Given the description of an element on the screen output the (x, y) to click on. 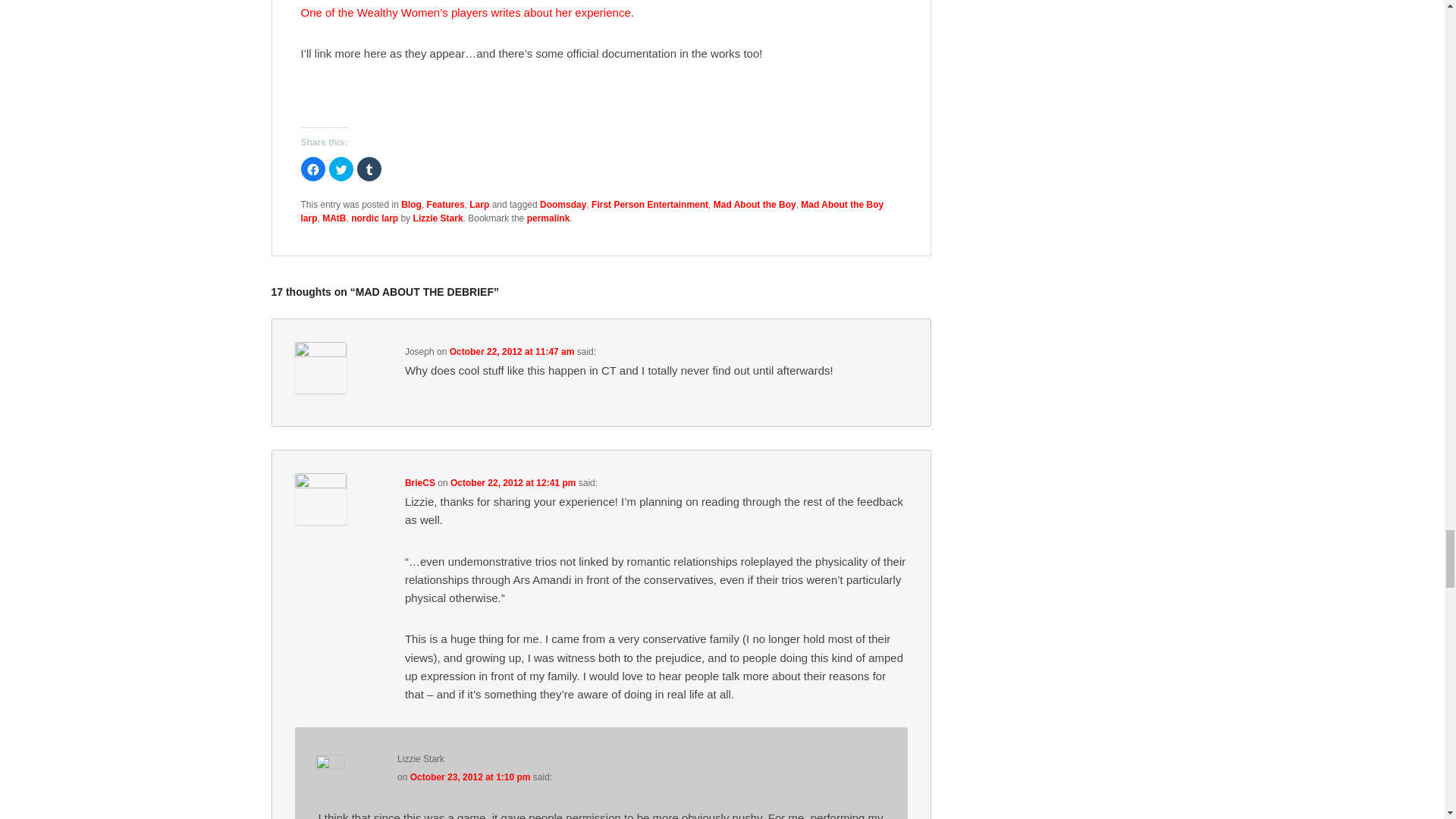
nordic larp (373, 217)
Blog (411, 204)
Click to share on Facebook (311, 168)
Larp (478, 204)
First Person Entertainment (649, 204)
Features (445, 204)
Click to share on Tumblr (368, 168)
Click to share on Twitter (341, 168)
Mad About the Boy larp (591, 211)
Permalink to Mad About the Debrief (548, 217)
